Given the description of an element on the screen output the (x, y) to click on. 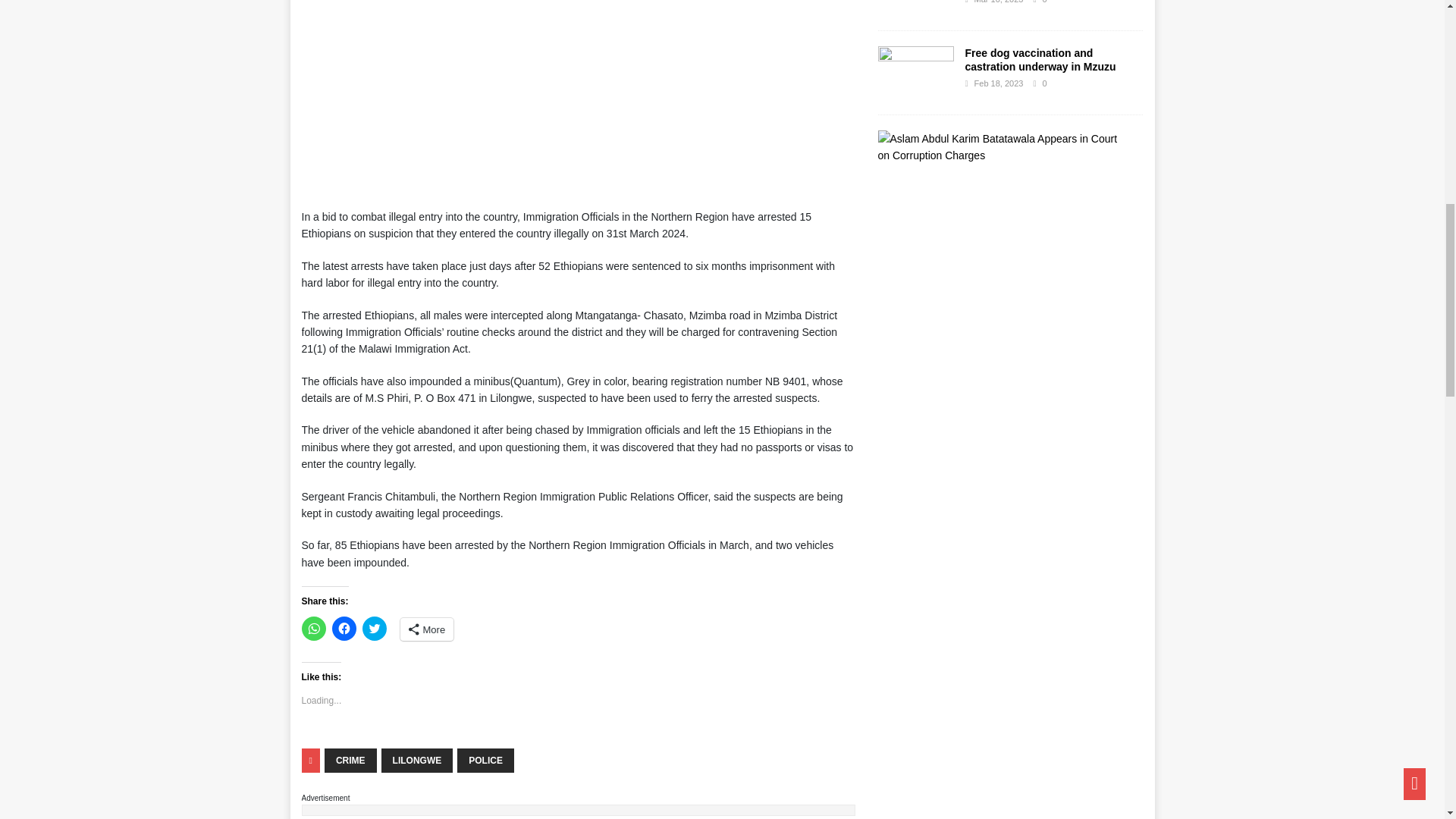
Click to share on Twitter (374, 628)
Click to share on Facebook (343, 628)
Click to share on WhatsApp (313, 628)
